Given the description of an element on the screen output the (x, y) to click on. 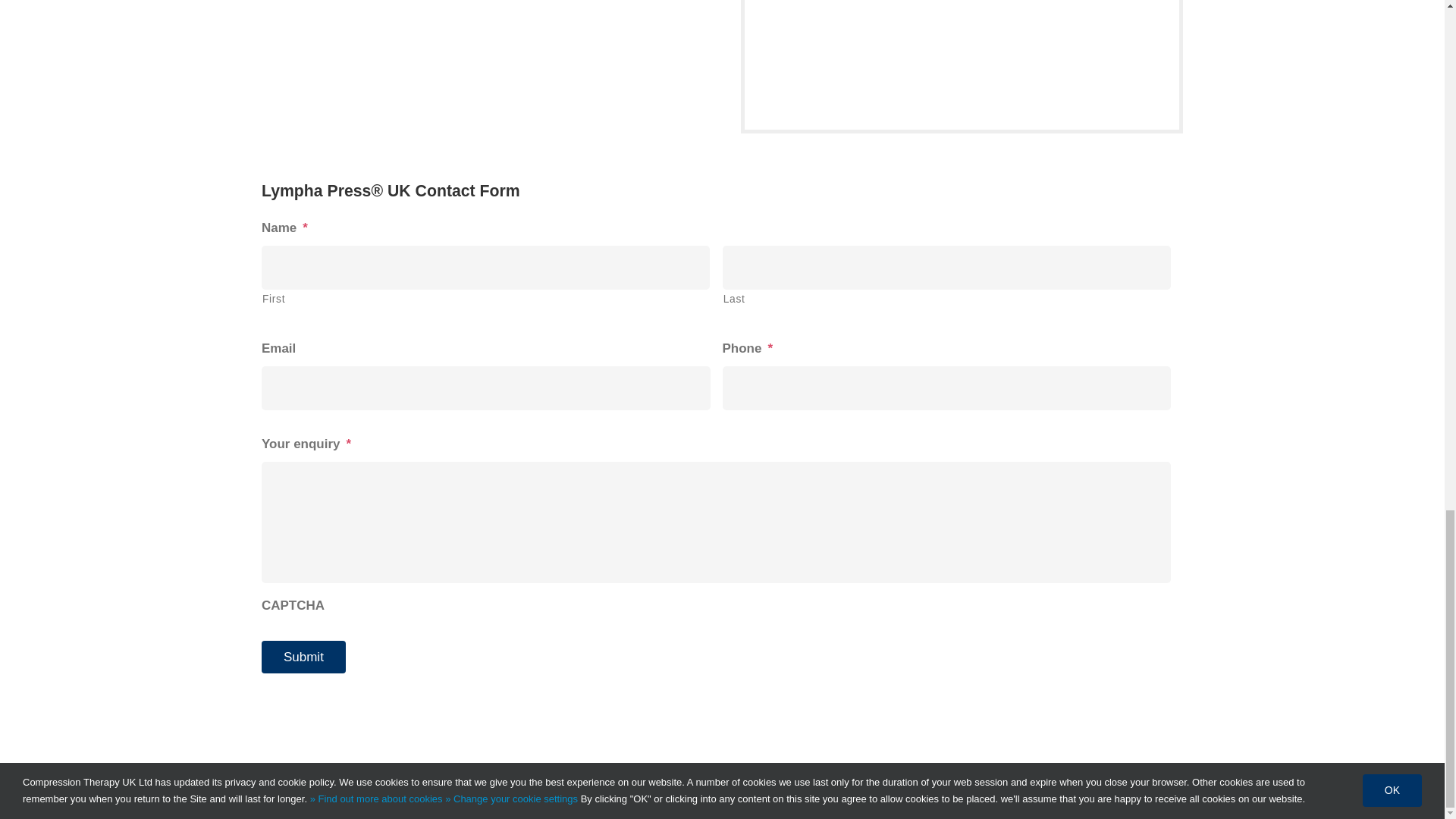
Submit (304, 656)
1-scaled-1 (961, 64)
YouTube video player (473, 73)
